Given the description of an element on the screen output the (x, y) to click on. 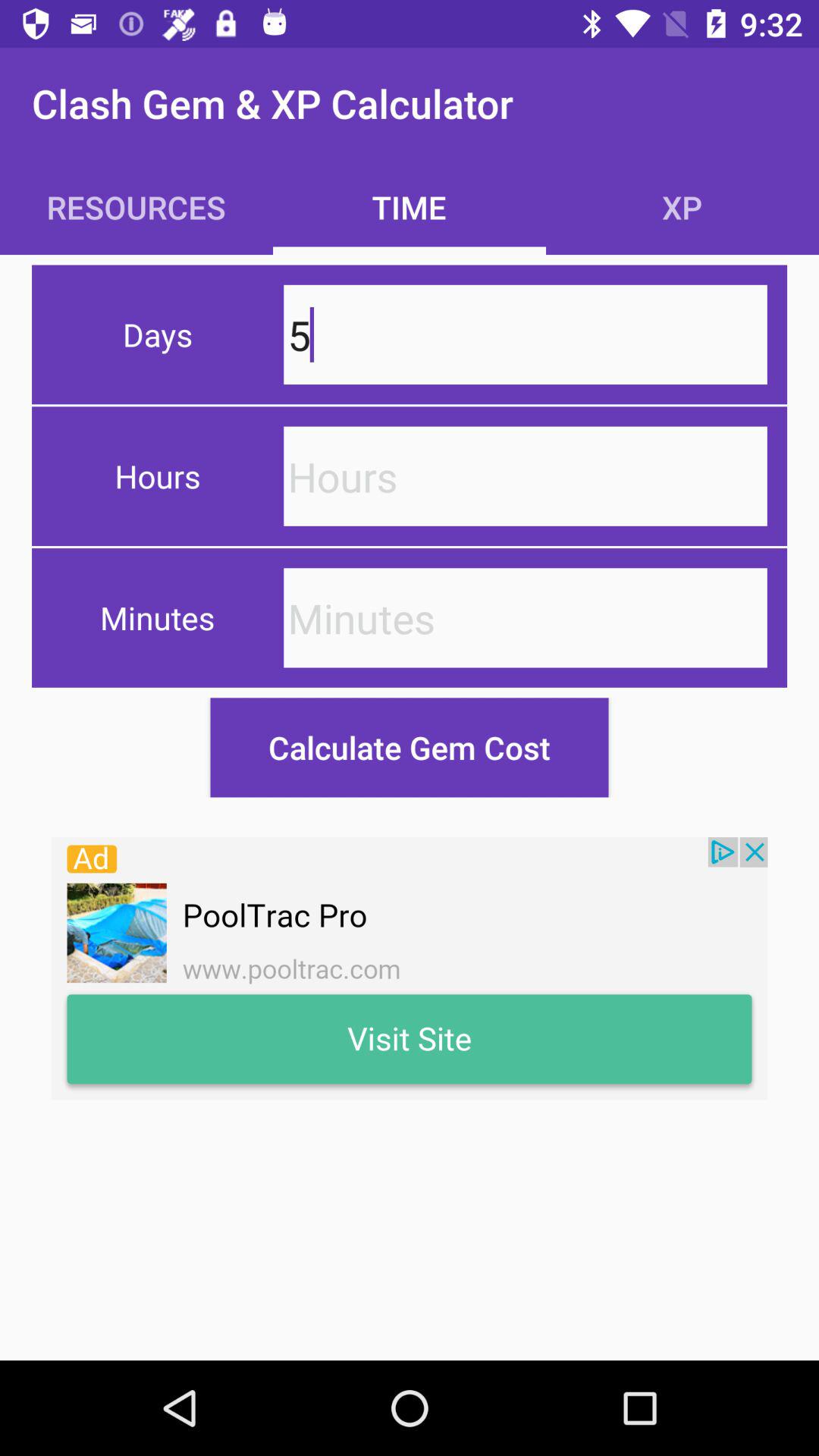
click on the hours column (525, 475)
